Given the description of an element on the screen output the (x, y) to click on. 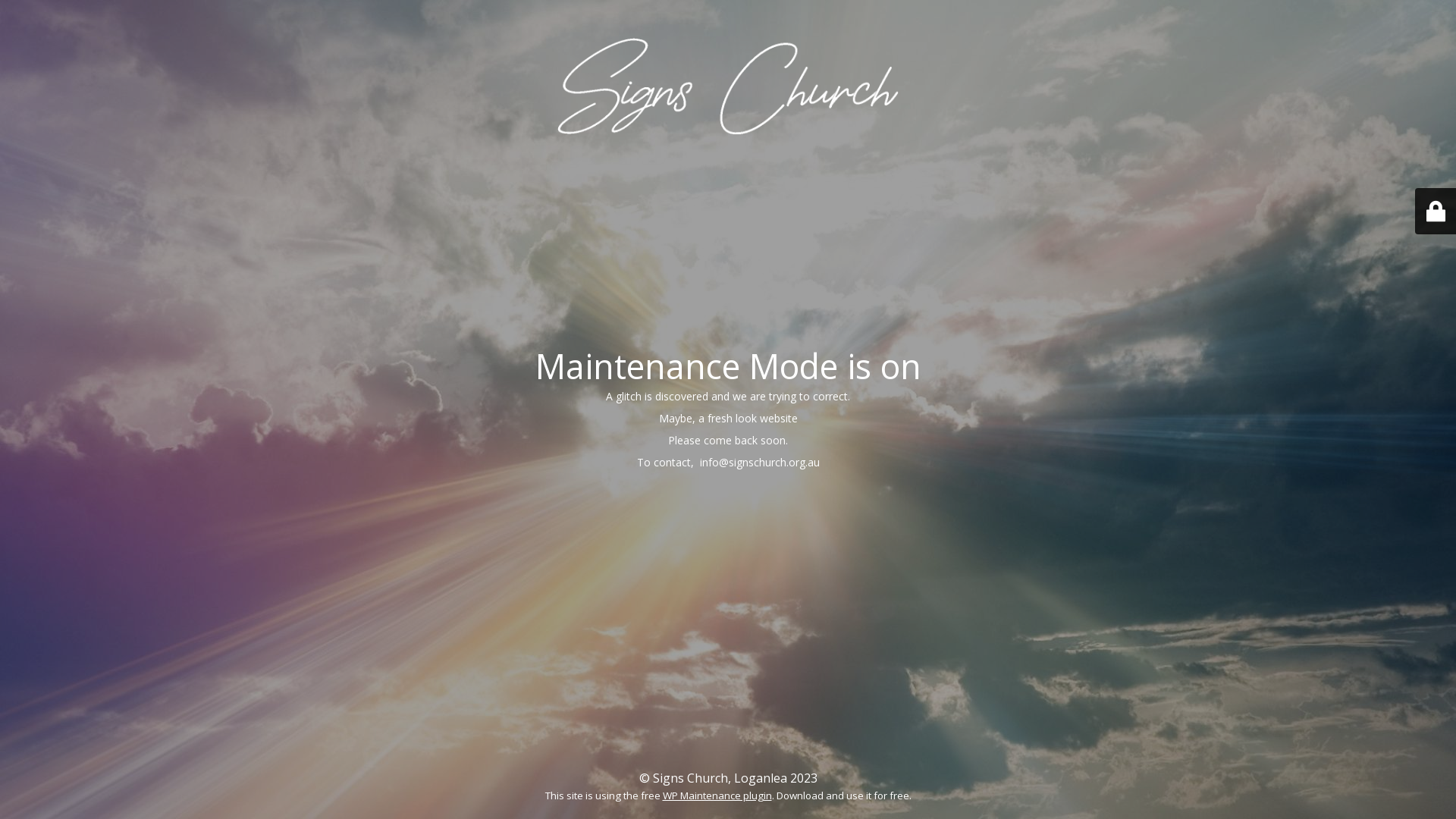
WP Maintenance plugin Element type: text (716, 795)
